Given the description of an element on the screen output the (x, y) to click on. 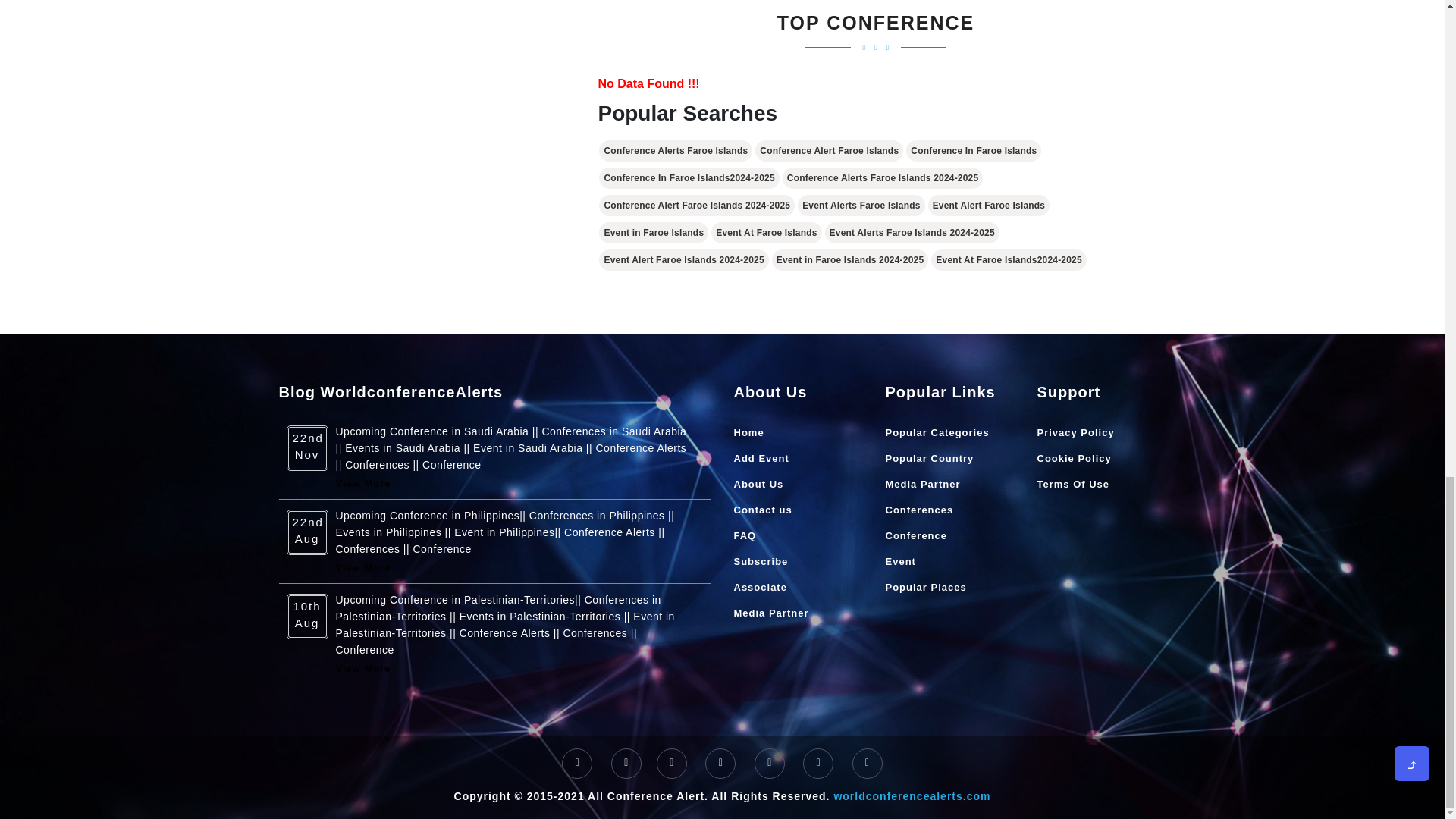
Conference In  Faroe Islands (973, 150)
Conference Alerts  Faroe Islands 2024-2025 (883, 178)
Conference Alert Faroe Islands (828, 150)
Conference Alerts Faroe Islands (675, 150)
Conference Alert  Faroe Islands 2024-2025 (696, 205)
Conference In Faroe Islands (973, 150)
Event At Faroe Islands2024-2025 (1008, 260)
Conference In Faroe Islands2024-2025 (688, 178)
Faroe Islands (652, 232)
Event in Faroe Islands (652, 232)
Event Alert  Faroe Islands (988, 205)
Event Alert Faroe Islands 2024-2025 (683, 260)
Event Alerts  Faroe Islands (860, 205)
Conference In  Faroe Islands2024-2025 (688, 178)
Conference Alerts Faroe Islands 2024-2025 (883, 178)
